Given the description of an element on the screen output the (x, y) to click on. 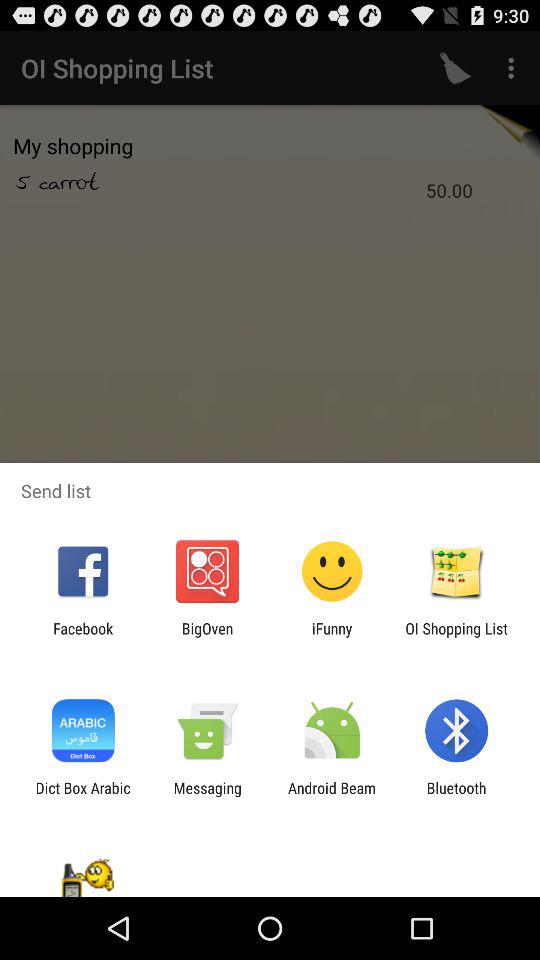
launch icon to the left of messaging (82, 796)
